Given the description of an element on the screen output the (x, y) to click on. 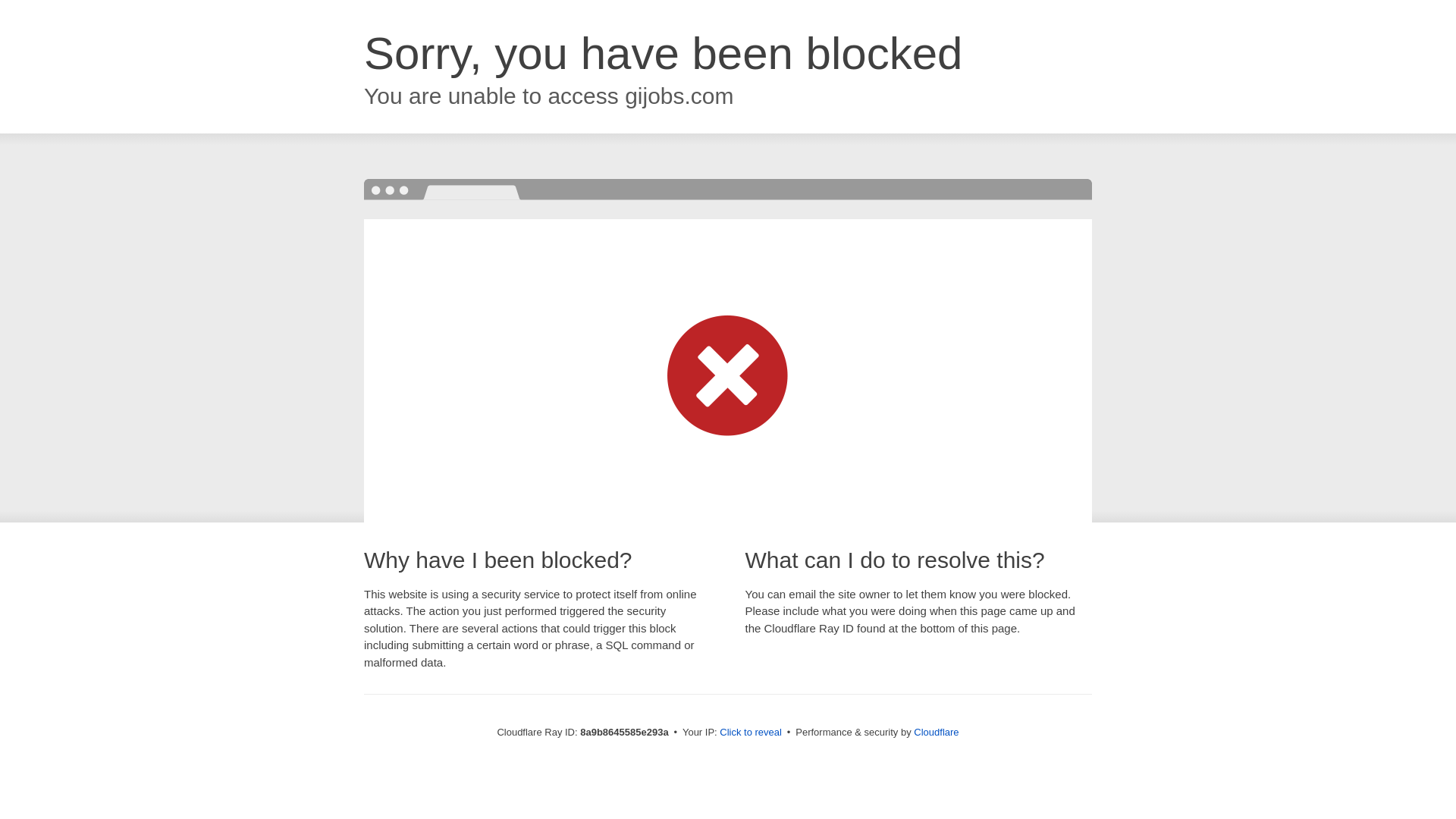
Click to reveal (750, 732)
Cloudflare (936, 731)
